Given the description of an element on the screen output the (x, y) to click on. 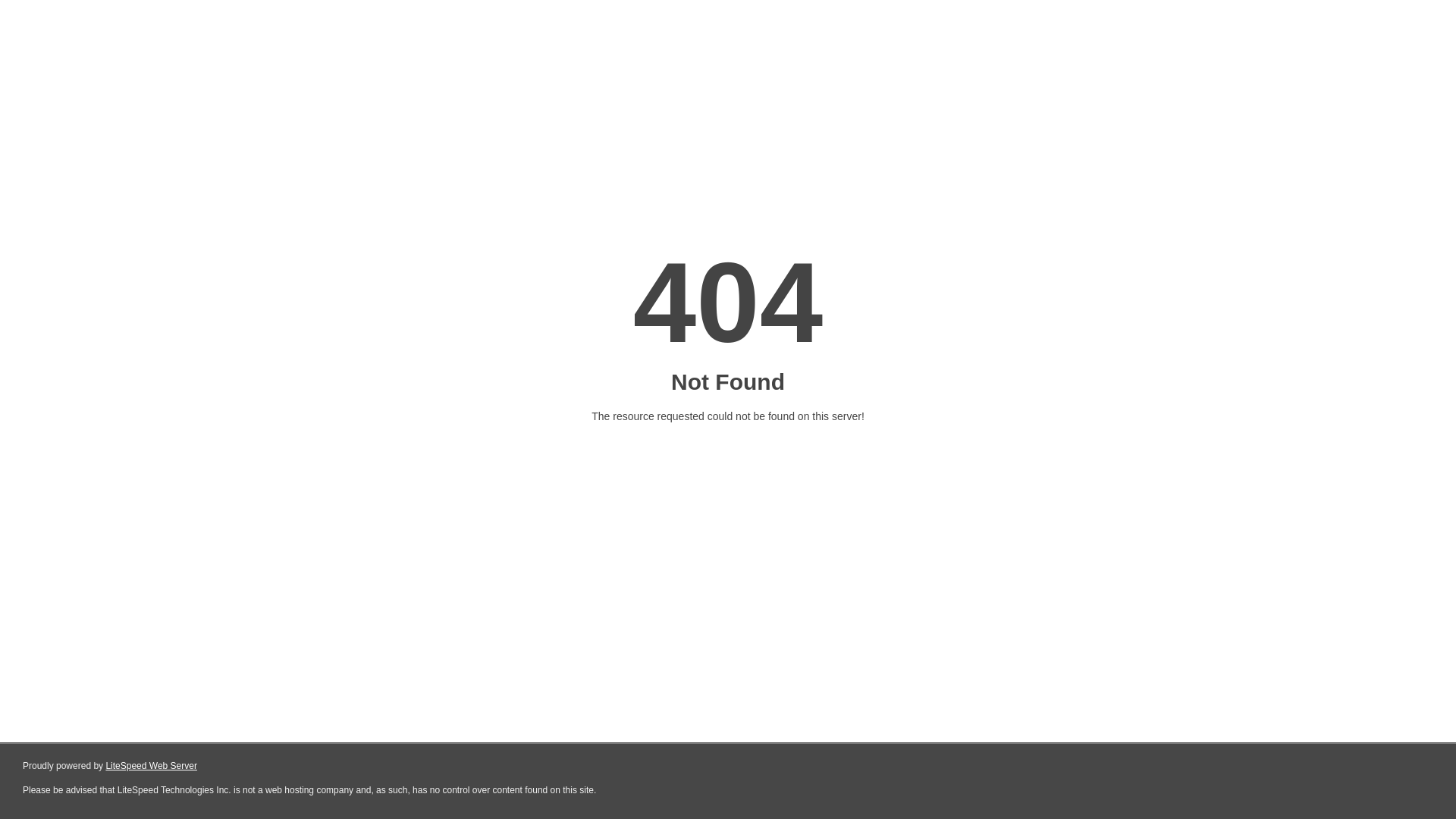
LiteSpeed Web Server Element type: text (151, 765)
